Given the description of an element on the screen output the (x, y) to click on. 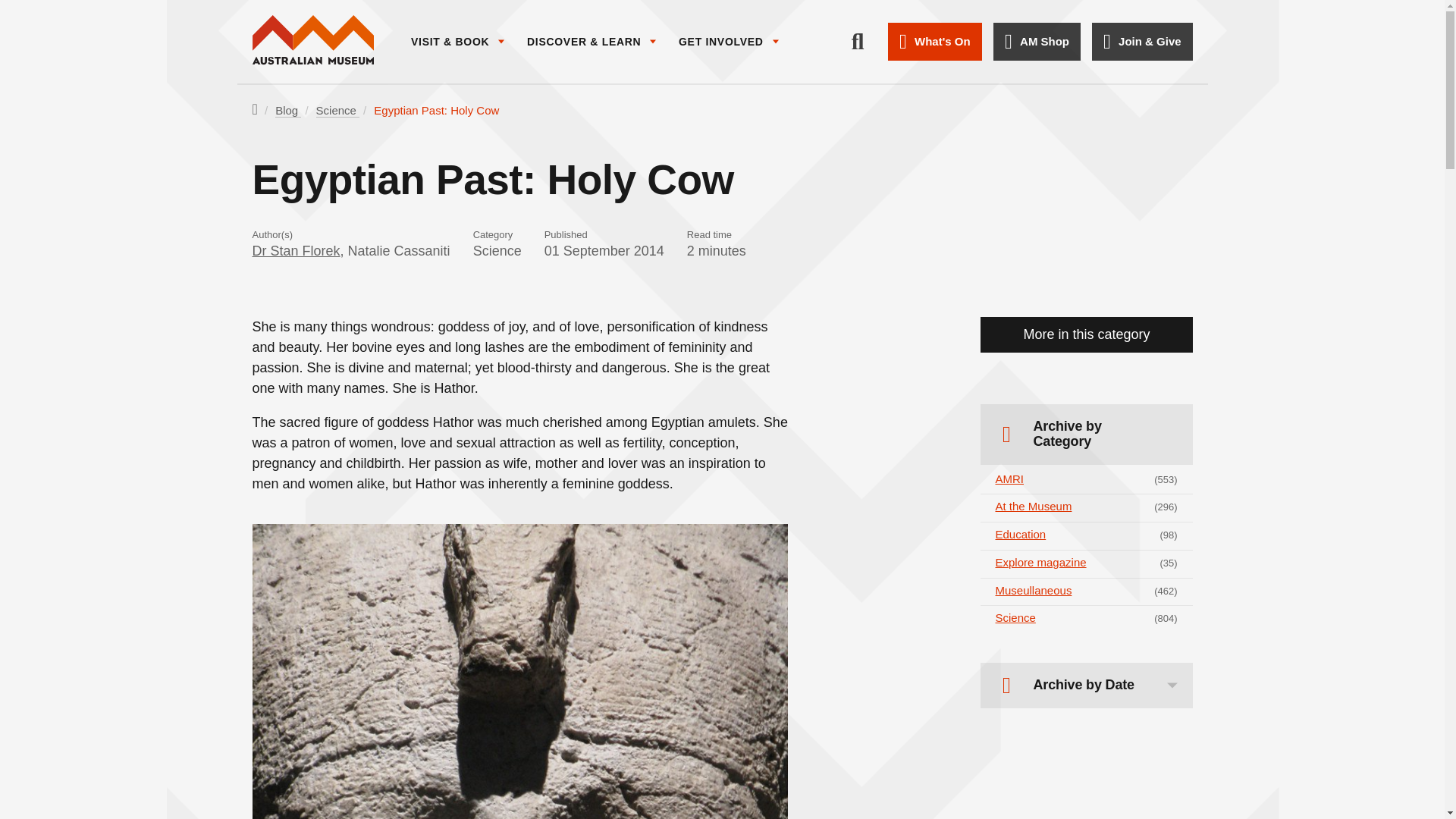
Welcome to the Australian Museum website (311, 40)
Go to homepage (311, 40)
